Given the description of an element on the screen output the (x, y) to click on. 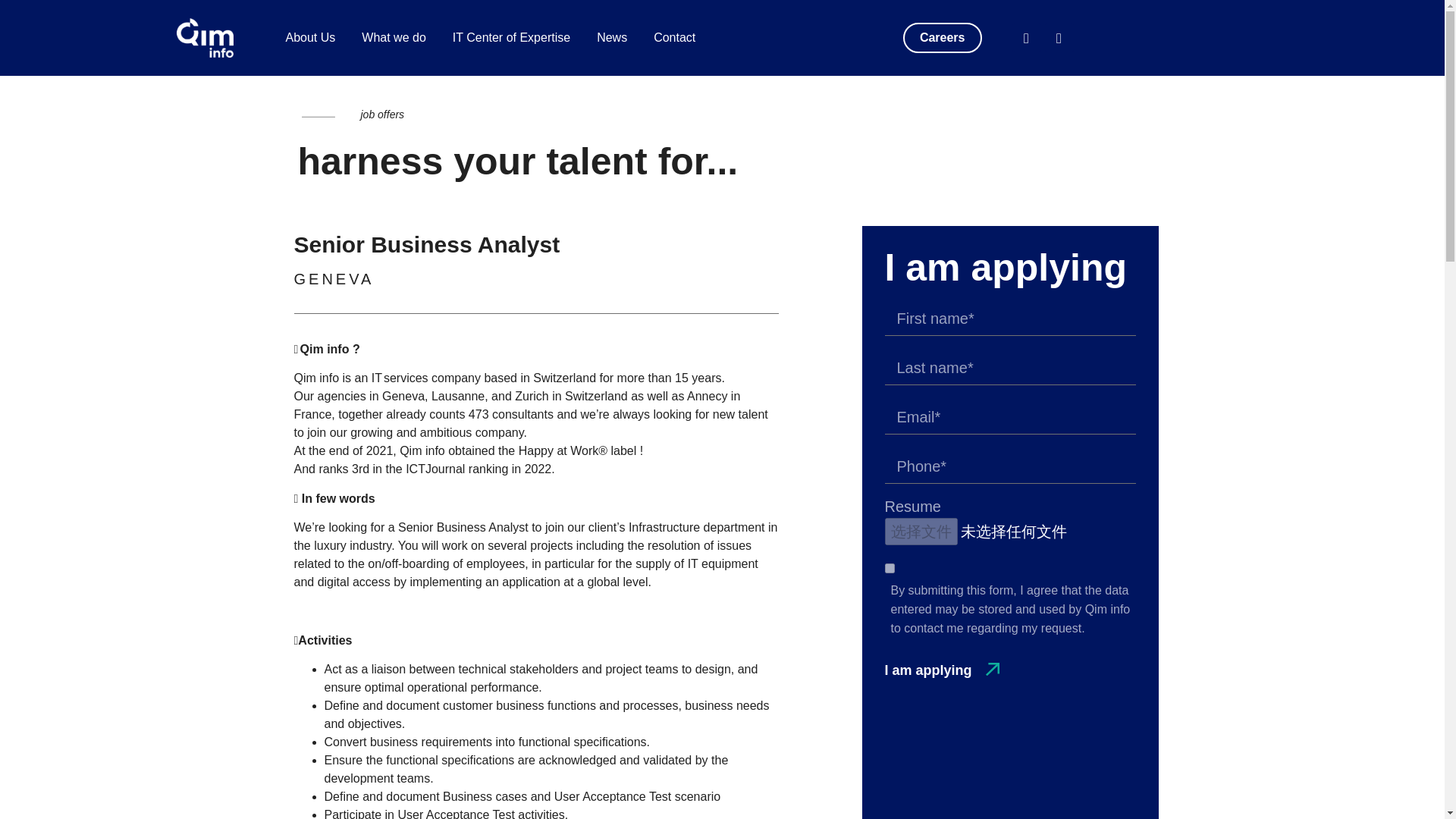
on (888, 568)
I am applying (940, 670)
Careers (941, 37)
IT Center of Expertise (511, 38)
